Given the description of an element on the screen output the (x, y) to click on. 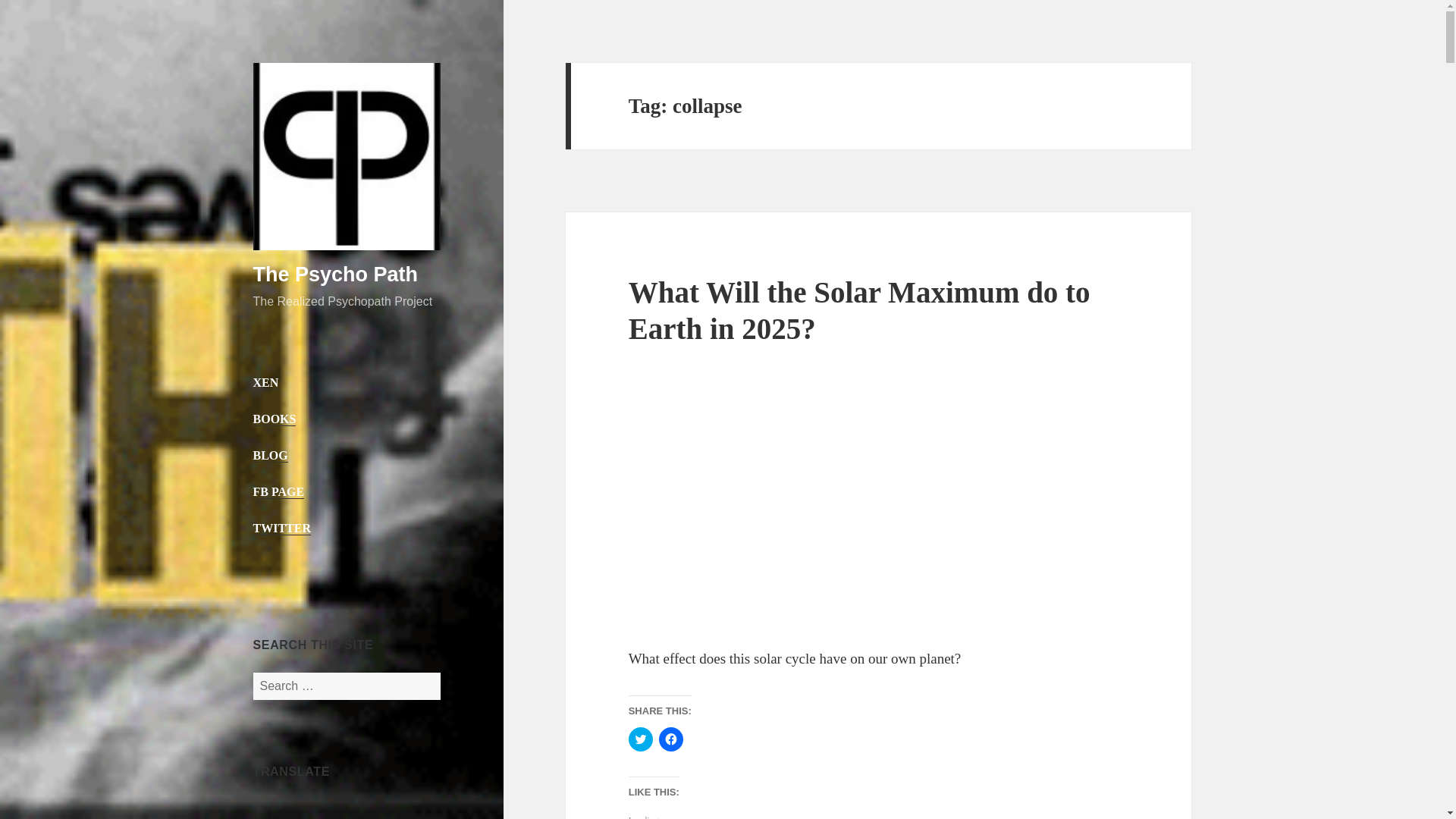
Click to share on Facebook (670, 739)
Click to share on Twitter (640, 739)
XEN (266, 382)
BLOG (270, 455)
FB PAGE (278, 491)
YouTube video player (840, 503)
BOOKS (275, 418)
TWITTER (282, 528)
The Psycho Path (336, 273)
